Given the description of an element on the screen output the (x, y) to click on. 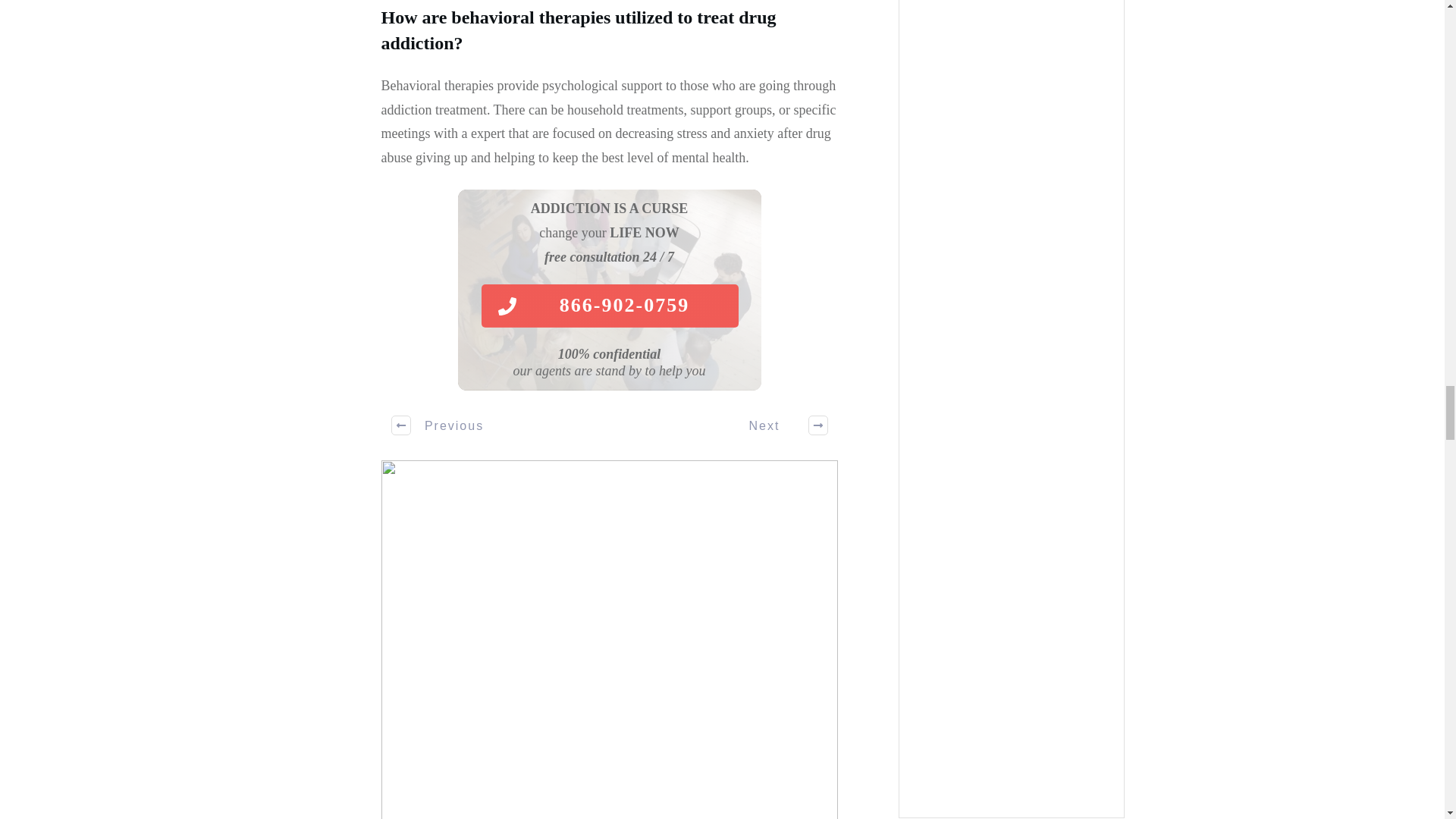
Previous (438, 425)
Next (780, 425)
866-902-0759 (609, 305)
